Given the description of an element on the screen output the (x, y) to click on. 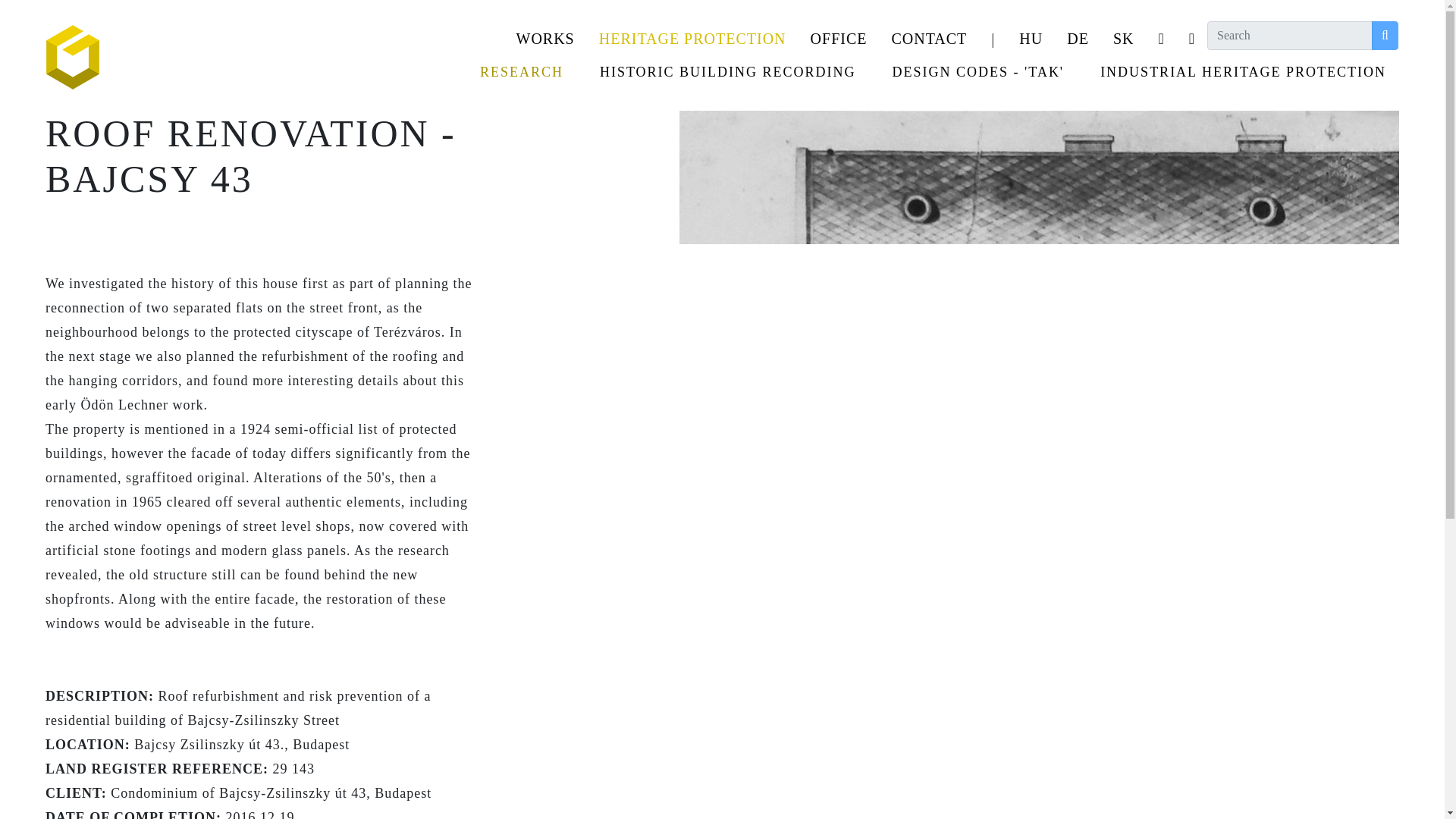
OFFICE (838, 38)
WORKS (544, 38)
DE (1077, 38)
SK (1123, 38)
HU (1030, 38)
HISTORIC BUILDING RECORDING (727, 72)
CONTACT (928, 38)
DESIGN CODES - 'TAK' (979, 72)
INDUSTRIAL HERITAGE PROTECTION (1239, 72)
HERITAGE PROTECTION (691, 38)
